Given the description of an element on the screen output the (x, y) to click on. 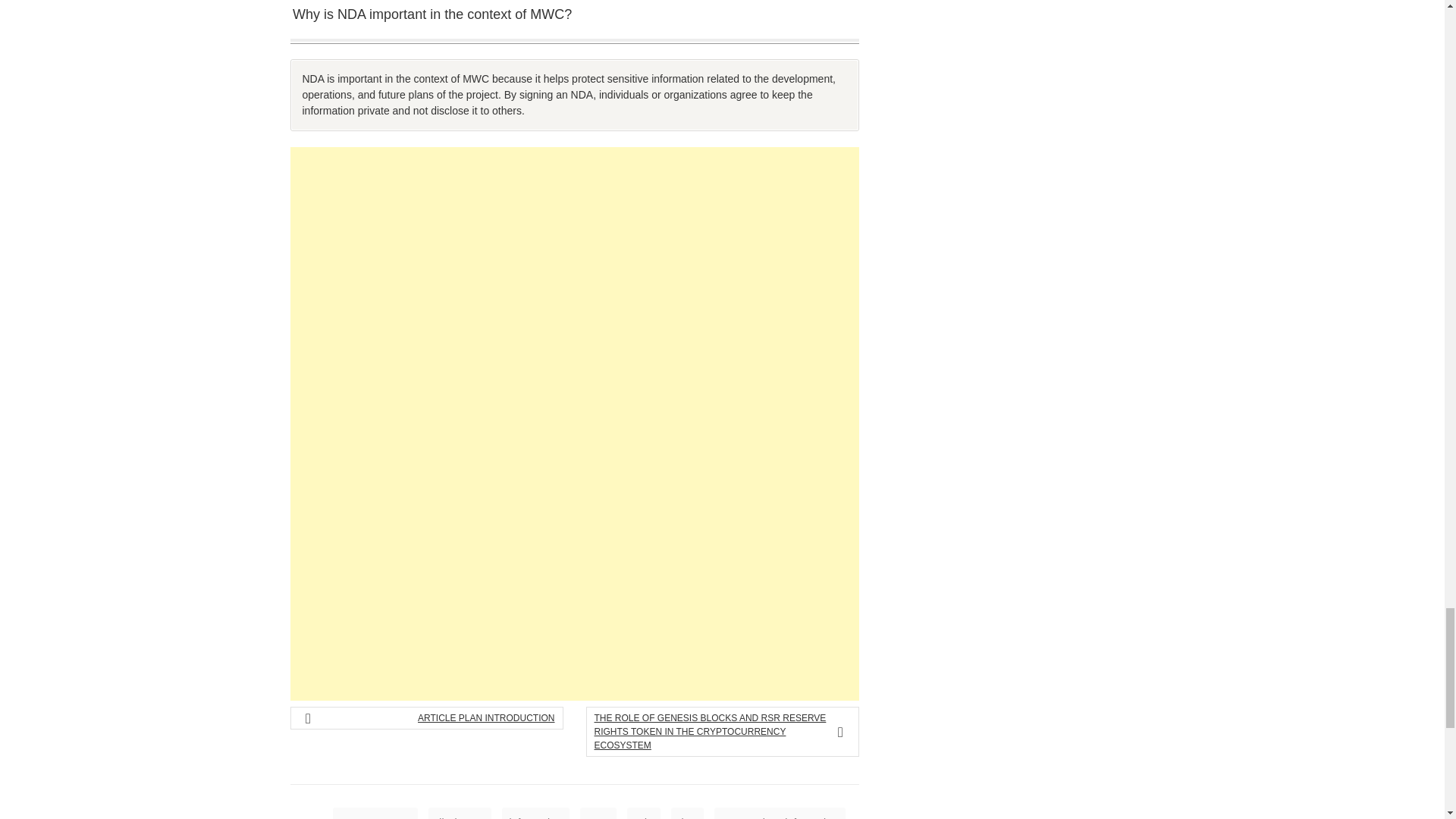
information (535, 813)
mwc (598, 813)
Transactions information (779, 813)
nda (643, 813)
cryptocurrency (375, 813)
ARTICLE PLAN INTRODUCTION (432, 717)
disclosure (460, 813)
that (687, 813)
